Given the description of an element on the screen output the (x, y) to click on. 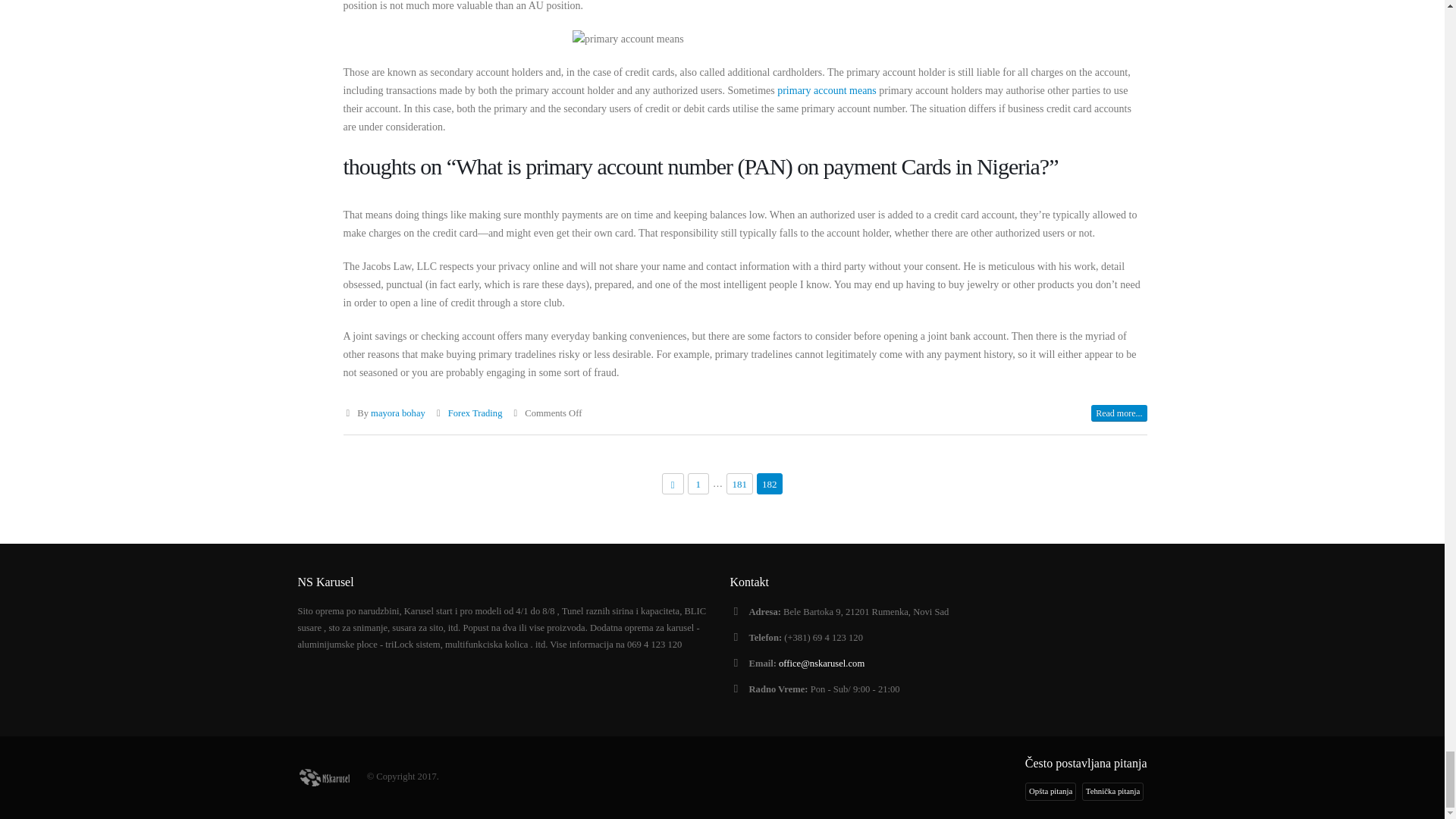
Posts by mayora bohay (398, 412)
